Given the description of an element on the screen output the (x, y) to click on. 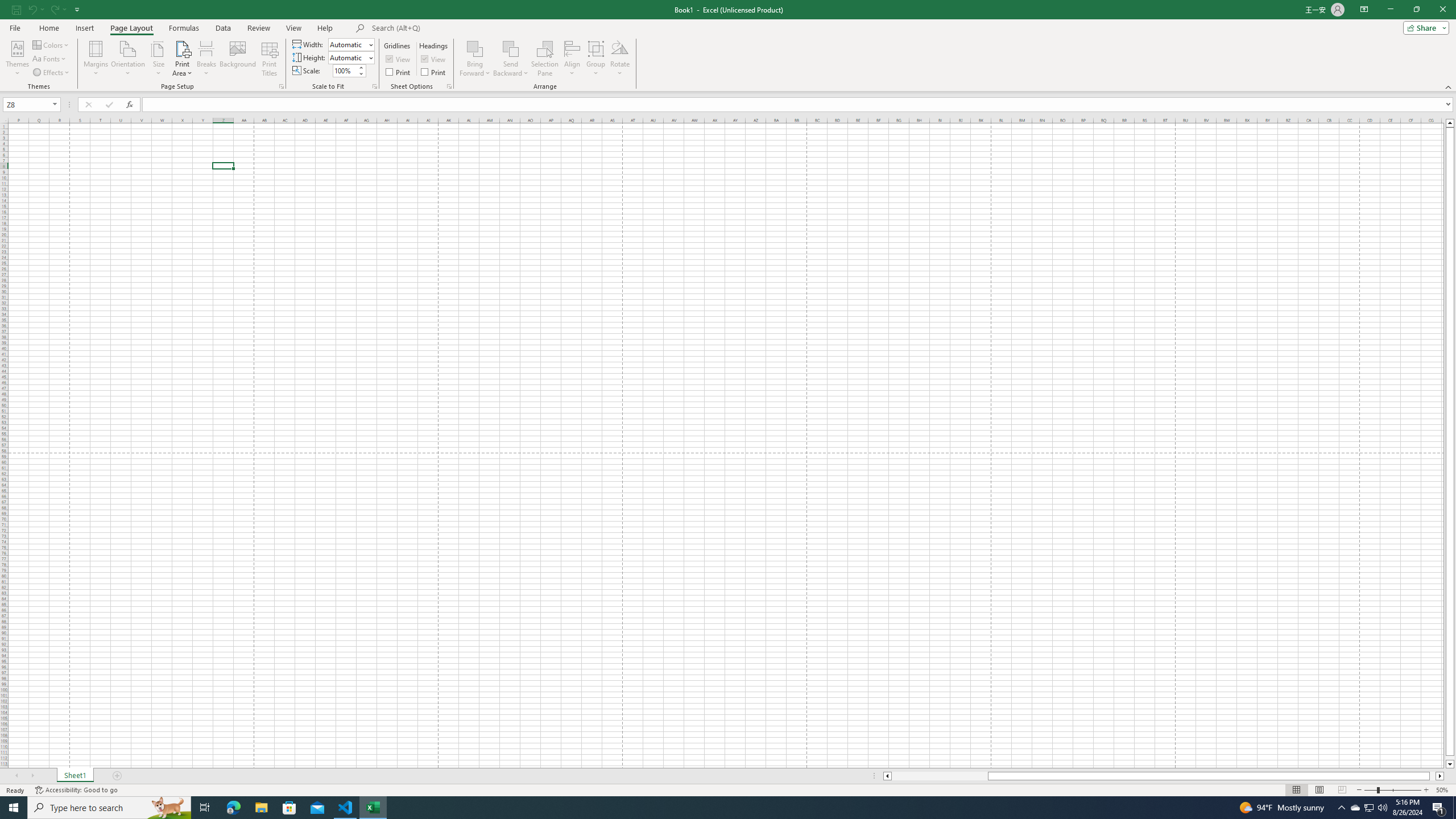
Breaks (206, 58)
Print Area (182, 58)
Save (16, 9)
More (360, 67)
Orientation (128, 58)
Group (595, 58)
Review (258, 28)
Zoom Out (1370, 790)
Page left (939, 775)
Collapse the Ribbon (1448, 86)
Line up (1449, 122)
